Given the description of an element on the screen output the (x, y) to click on. 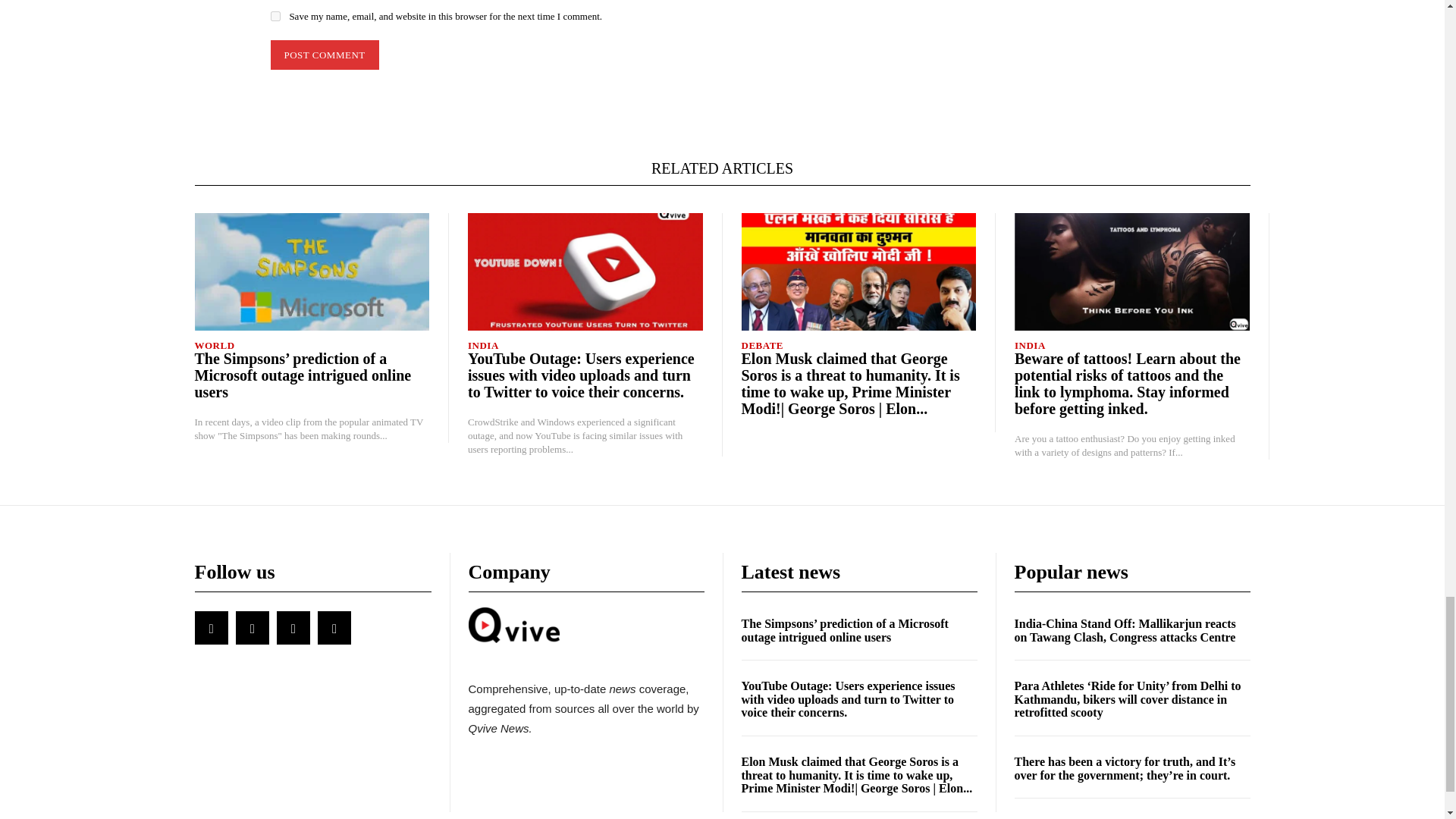
Post Comment (323, 54)
yes (274, 16)
